Given the description of an element on the screen output the (x, y) to click on. 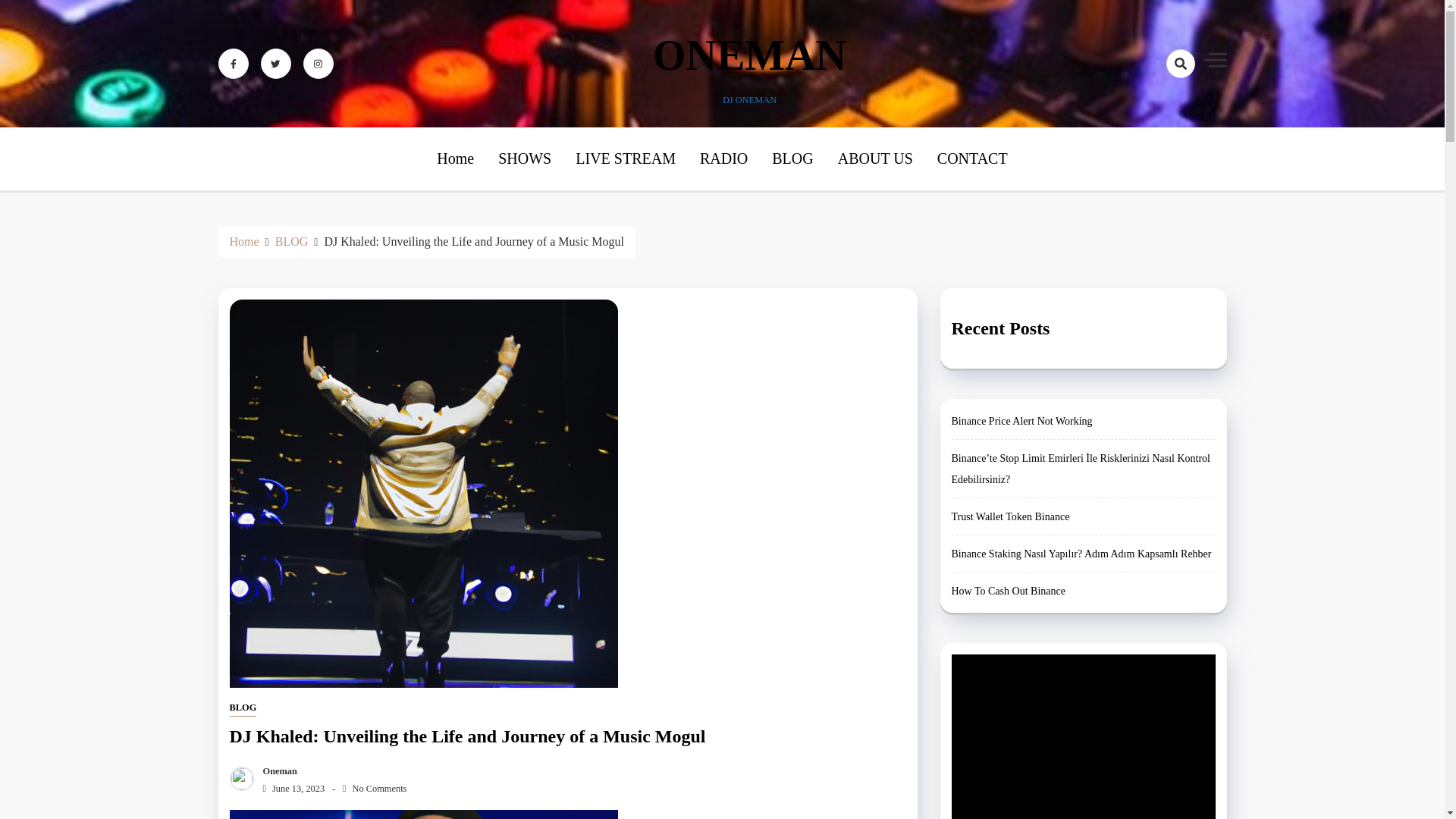
June 13, 2023 (290, 787)
Home (243, 241)
LIVE STREAM (625, 158)
Search (1152, 117)
No Comments (374, 787)
ONEMAN (748, 54)
ABOUT US (875, 158)
BLOG (291, 241)
DJ Khaled: Unveiling the Life and Journey of a Music Mogul 2 (422, 814)
Oneman (276, 770)
BLOG (242, 708)
CONTACT (972, 158)
